Given the description of an element on the screen output the (x, y) to click on. 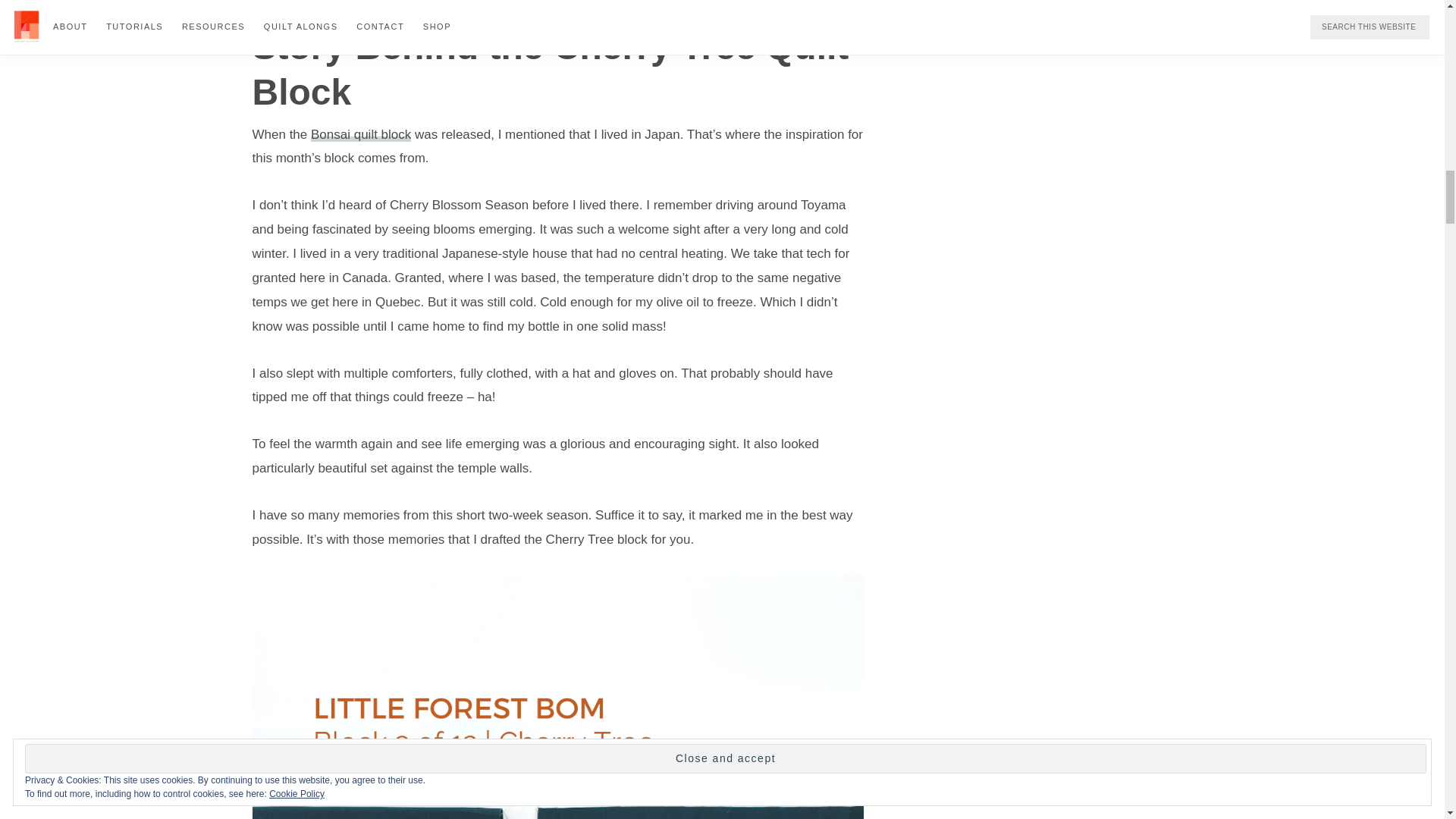
Bonsai quilt block (360, 134)
